Given the description of an element on the screen output the (x, y) to click on. 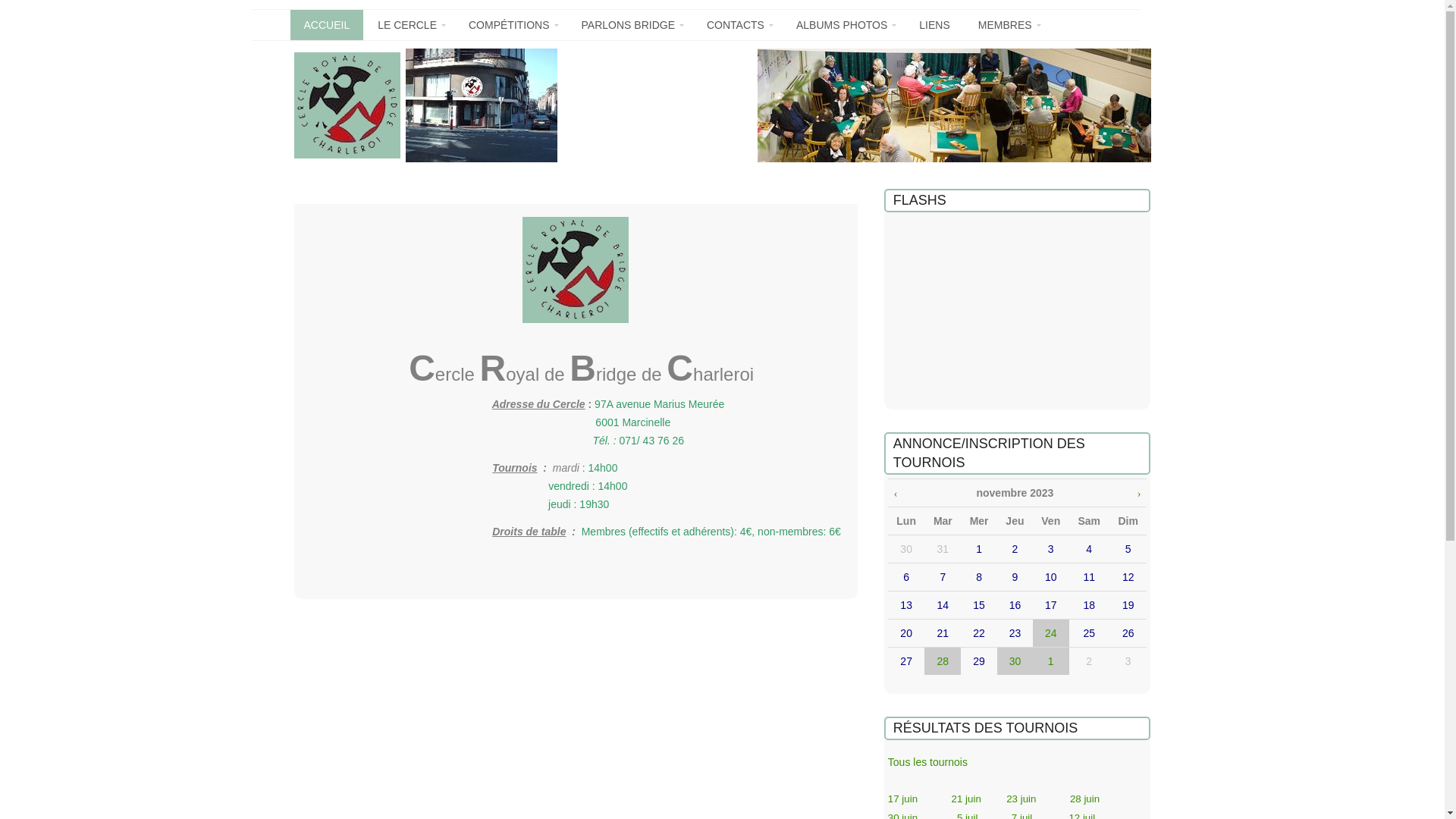
17 juin Element type: text (902, 798)
30 Element type: text (1015, 661)
ACCUEIL Element type: text (326, 24)
LIENS Element type: text (934, 24)
24 Element type: text (1050, 633)
23 juin Element type: text (1020, 798)
28 Element type: text (943, 661)
6001 Marcinell Element type: text (629, 422)
28 juin Element type: text (1084, 798)
Tous les tournois Element type: text (927, 762)
1 Element type: text (1051, 661)
21 juin Element type: text (966, 798)
